Given the description of an element on the screen output the (x, y) to click on. 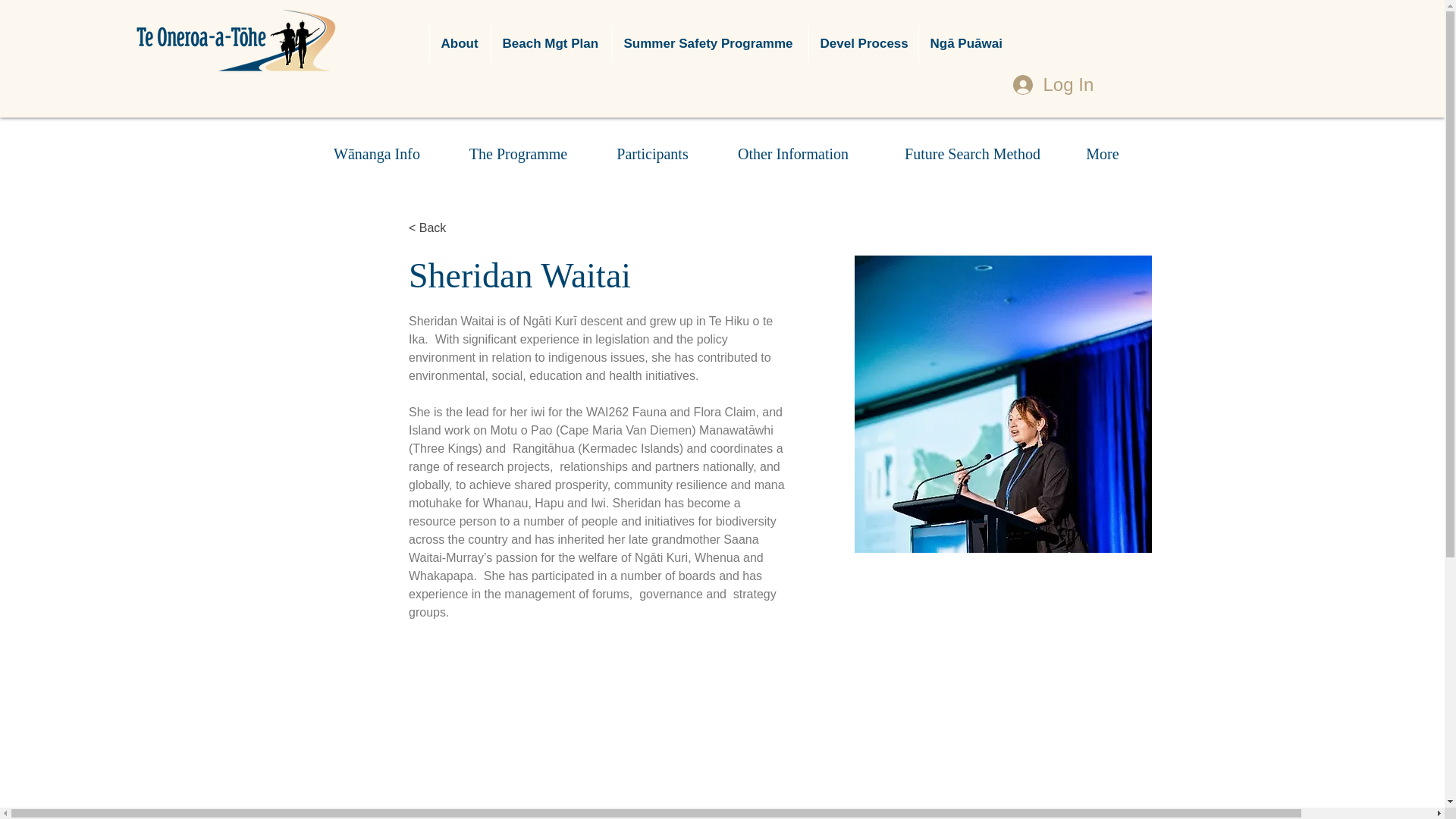
Sheridan profile.jpg (1002, 403)
Future Search Method (971, 153)
Participants (651, 153)
About (459, 44)
Summer Safety Programme (709, 44)
Beach Mgt Plan (550, 44)
Other Information (792, 153)
Log In (1048, 84)
The Programme (517, 153)
Devel Process (863, 44)
